Given the description of an element on the screen output the (x, y) to click on. 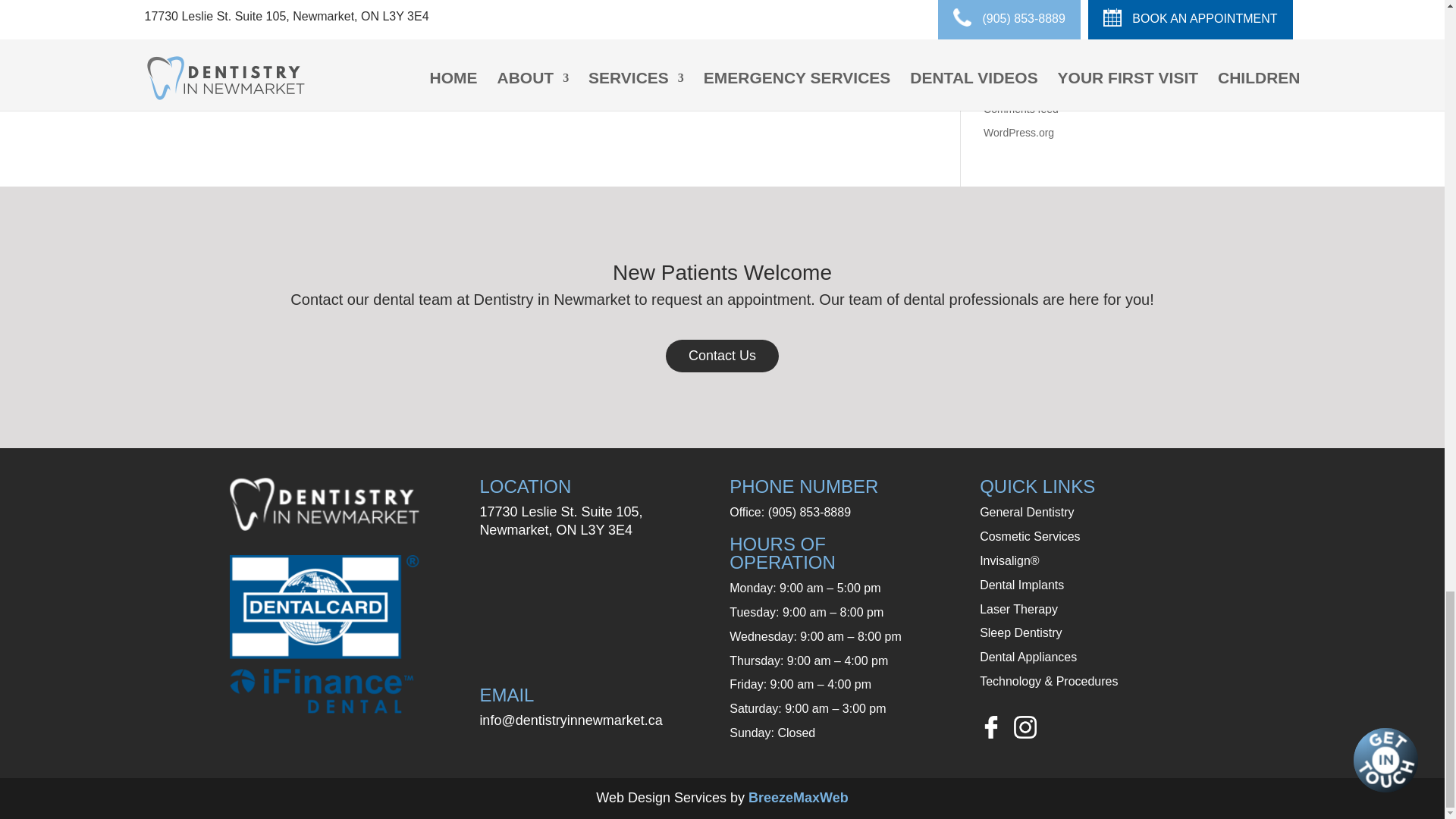
Instagram (1024, 726)
Facebook (991, 726)
